Given the description of an element on the screen output the (x, y) to click on. 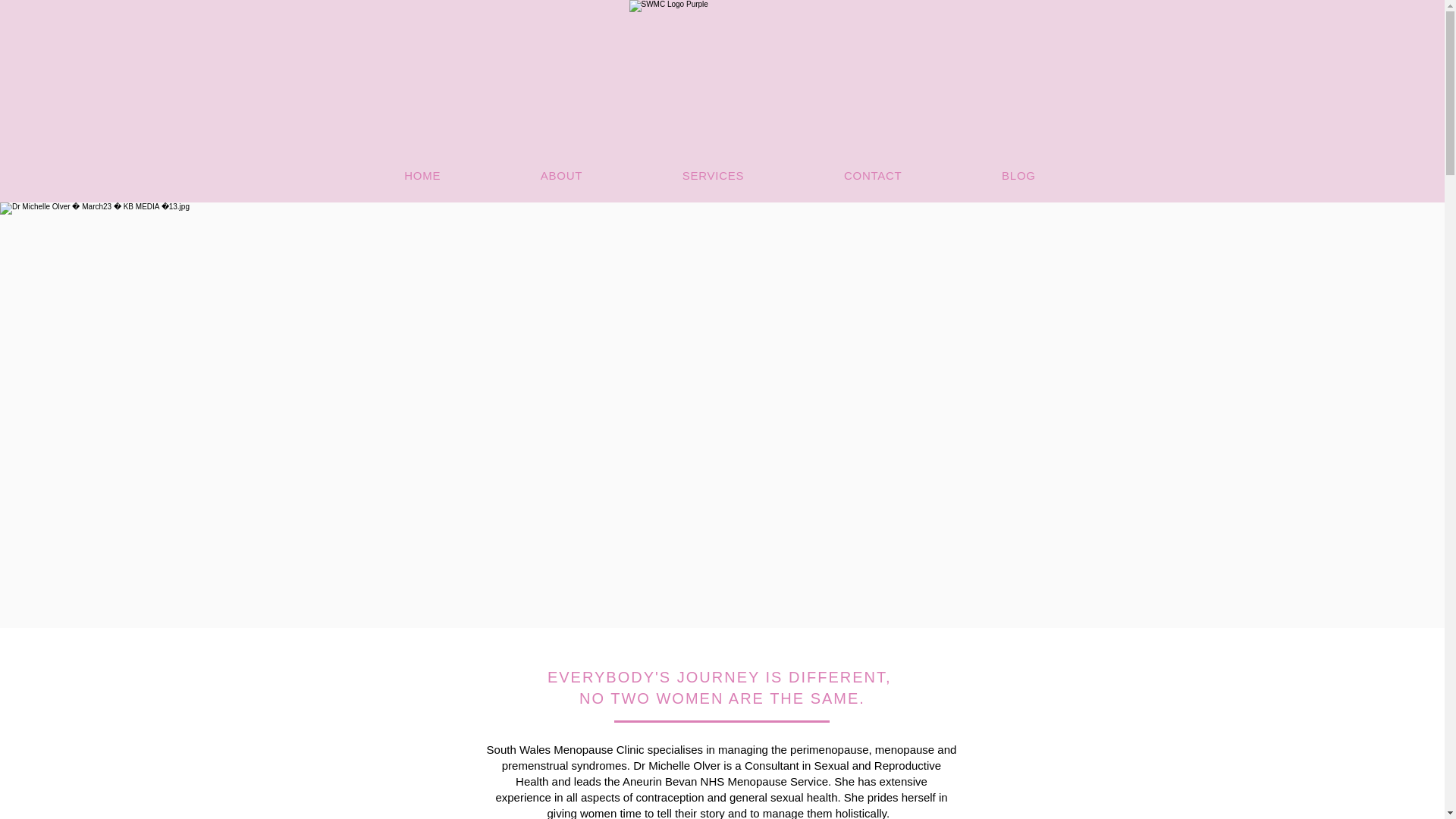
SERVICES (712, 175)
ABOUT (560, 175)
CONTACT (872, 175)
HOME (422, 175)
BLOG (1018, 175)
